Given the description of an element on the screen output the (x, y) to click on. 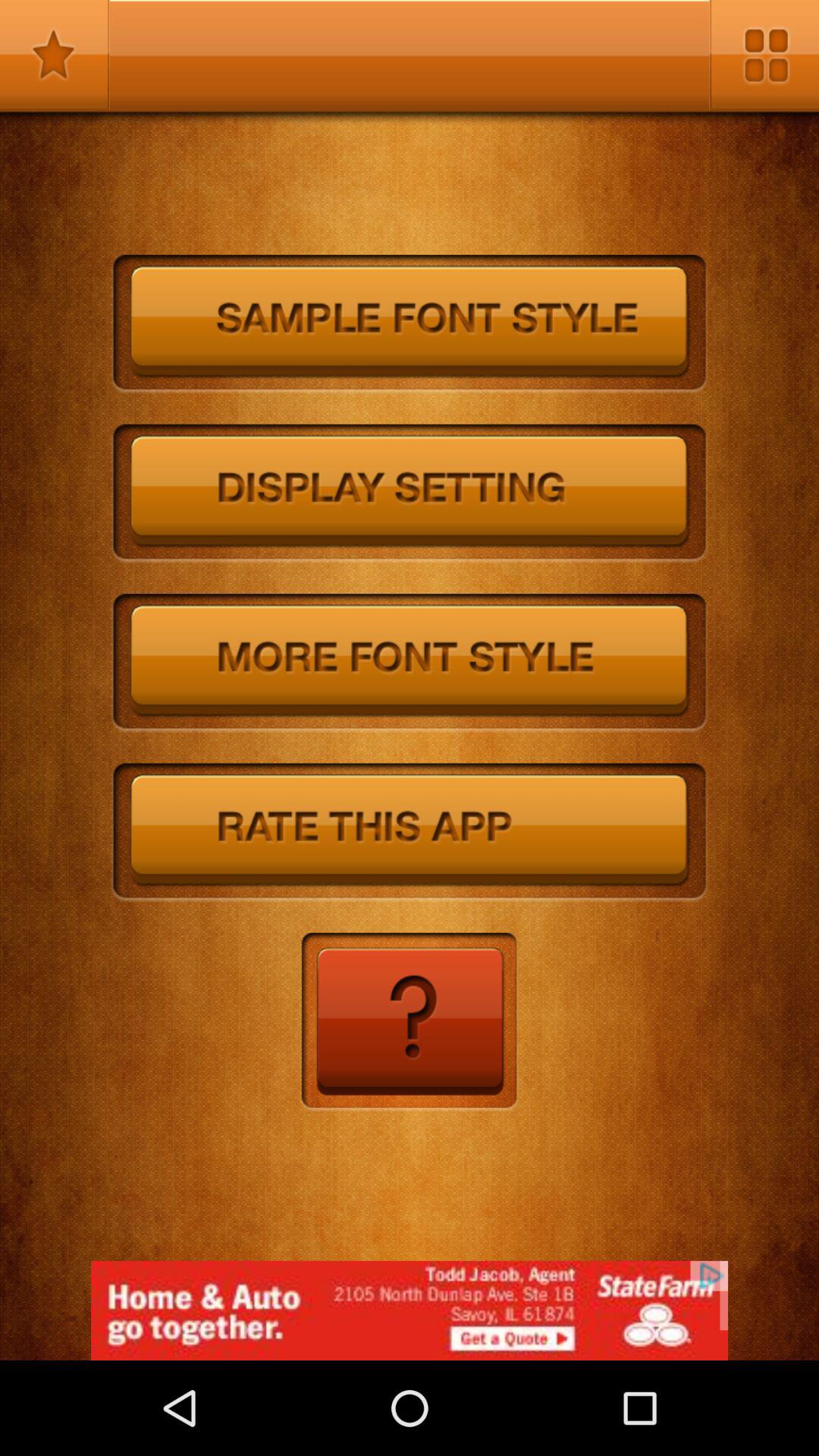
go to choose button (409, 832)
